Given the description of an element on the screen output the (x, y) to click on. 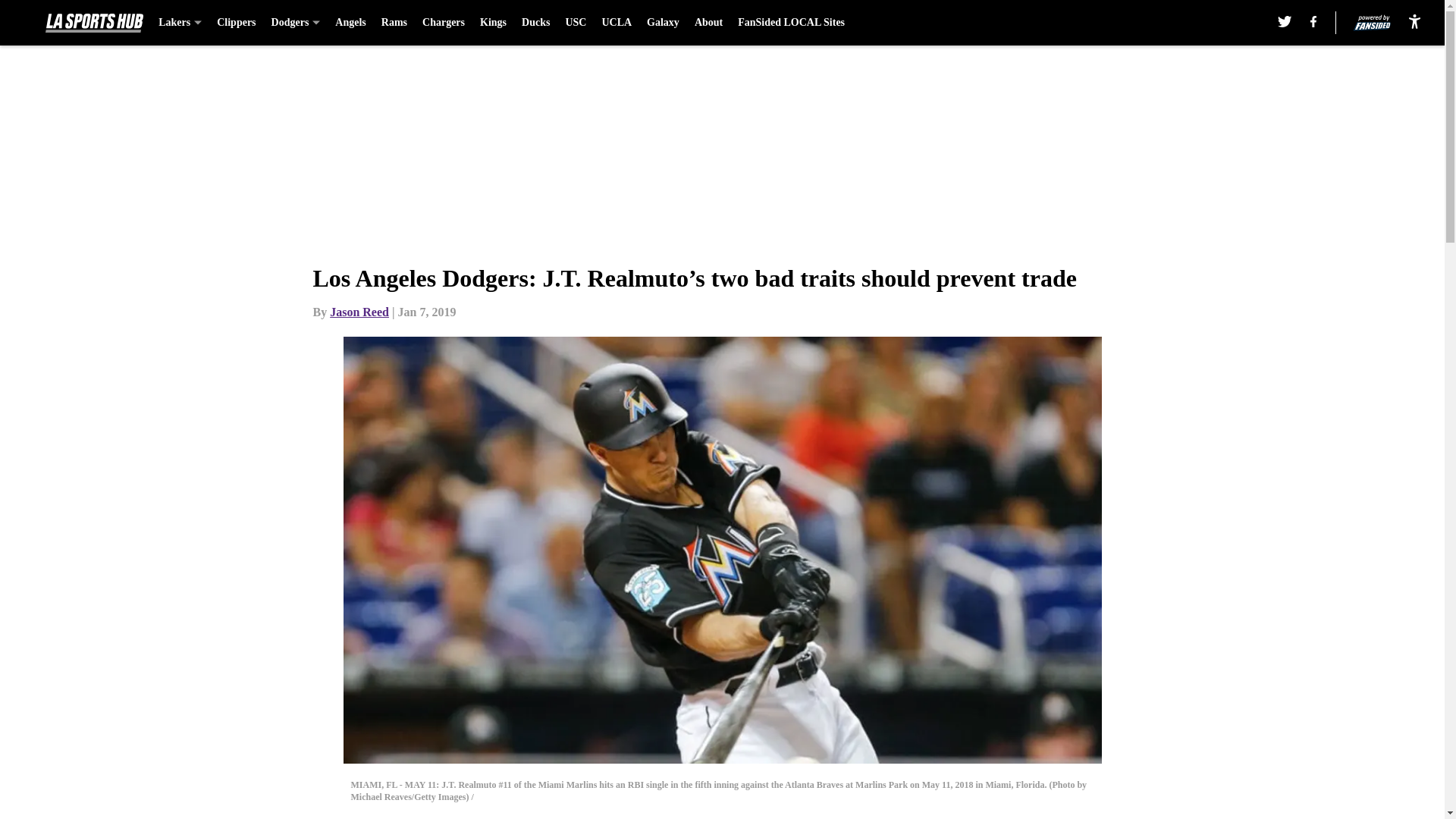
Kings (493, 22)
Clippers (236, 22)
Angels (349, 22)
FanSided LOCAL Sites (791, 22)
Ducks (535, 22)
Rams (394, 22)
Jason Reed (359, 311)
UCLA (616, 22)
USC (575, 22)
Galaxy (662, 22)
